Given the description of an element on the screen output the (x, y) to click on. 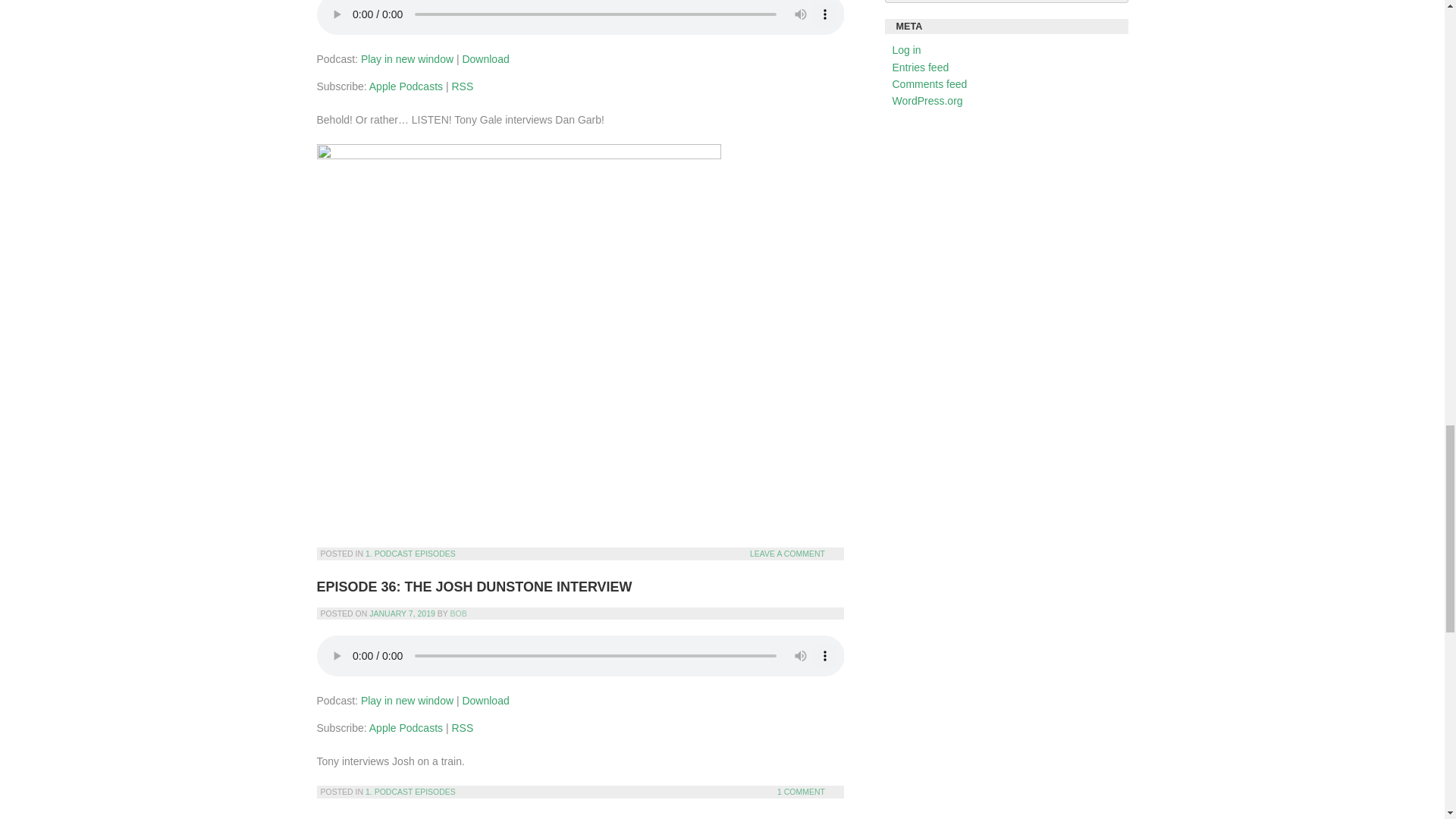
Subscribe on Apple Podcasts (405, 727)
Play in new window (406, 59)
Subscribe on Apple Podcasts (405, 86)
Download (484, 59)
Subscribe via RSS (462, 86)
Download (484, 700)
Play in new window (406, 700)
